Given the description of an element on the screen output the (x, y) to click on. 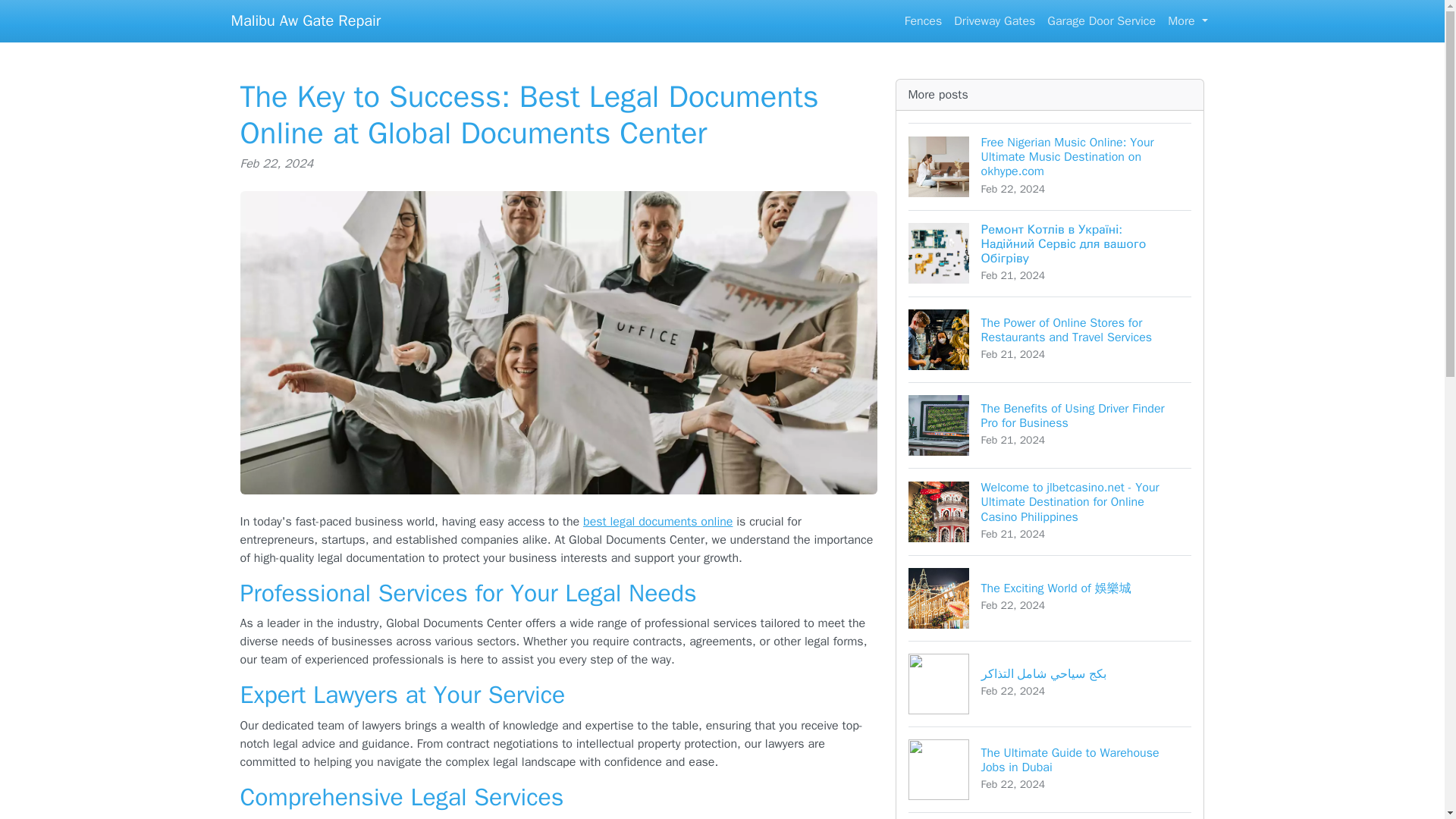
best legal documents online (657, 521)
Fences (1050, 769)
Garage Door Service (923, 20)
More (1101, 20)
